Given the description of an element on the screen output the (x, y) to click on. 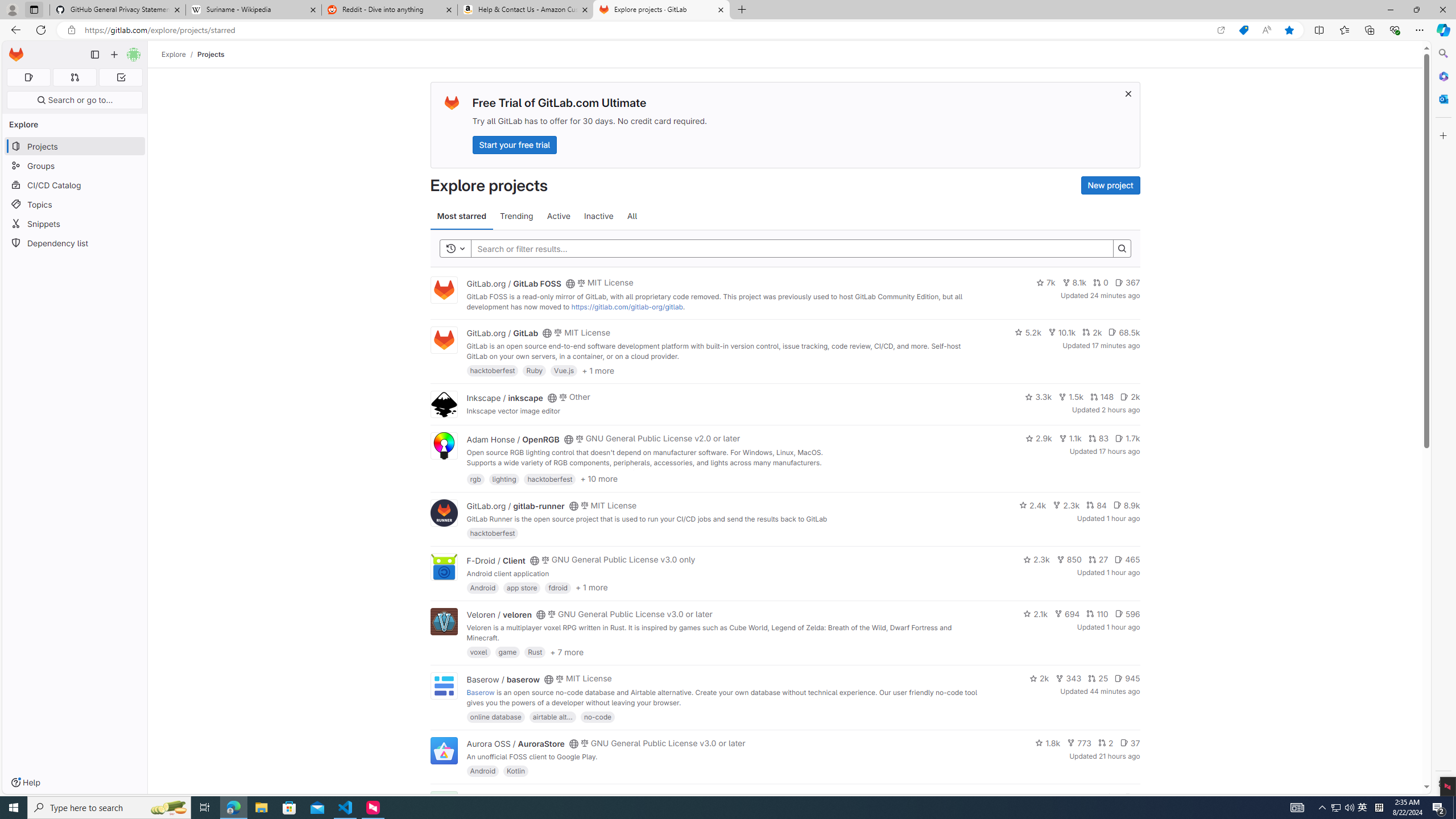
CI/CD Catalog (74, 185)
Class: s16 gl-icon gl-button-icon  (1127, 93)
945 (1127, 678)
2k (1039, 678)
voxel (478, 651)
1.8k (1048, 742)
Topics (74, 203)
Projects (211, 53)
Dismiss trial promotion (1128, 93)
Create new... (113, 54)
lighting (504, 478)
1.4k (1054, 797)
